Given the description of an element on the screen output the (x, y) to click on. 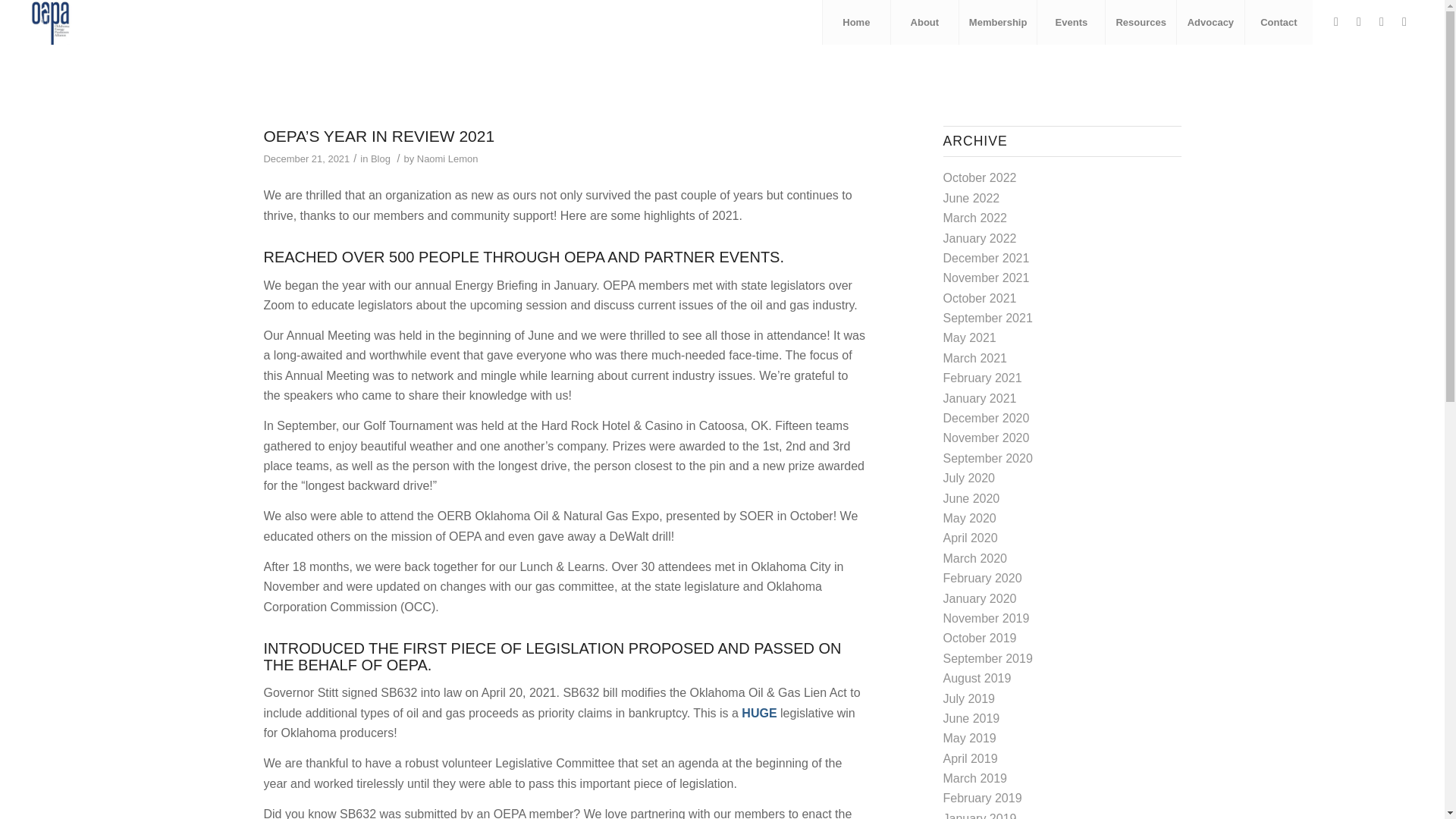
December 2021 (986, 257)
Mail (1404, 21)
March 2022 (975, 217)
Naomi Lemon (447, 158)
Home (855, 22)
June 2022 (971, 197)
October 2022 (979, 177)
January 2022 (979, 237)
Resources (1139, 22)
October 2021 (979, 297)
Blog (380, 158)
November 2021 (986, 277)
May 2021 (969, 337)
Contact (1278, 22)
Membership (997, 22)
